Given the description of an element on the screen output the (x, y) to click on. 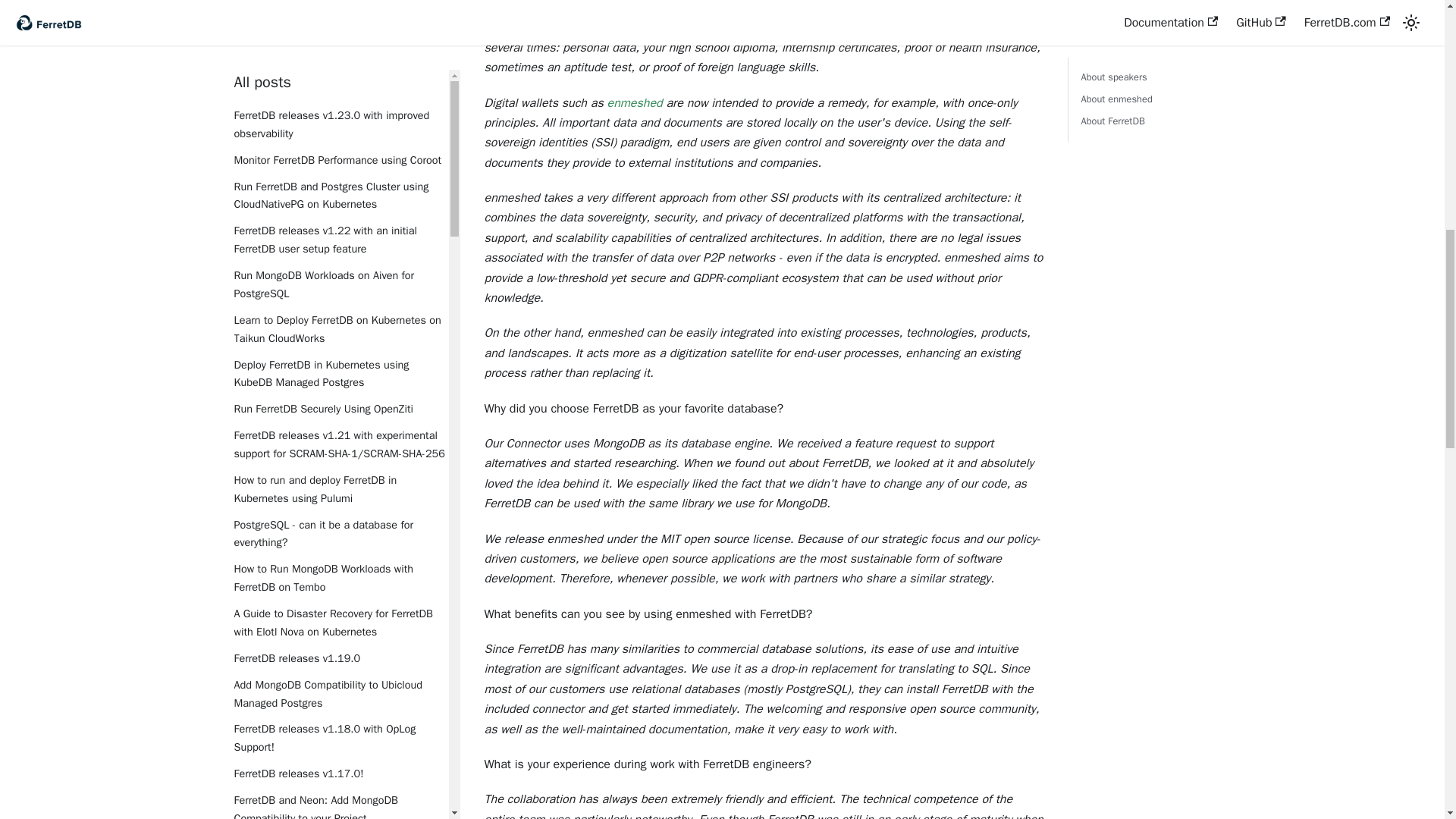
Building the MongoDB-like developer experience on Vultr (340, 293)
How to Install FerretDB on Ubuntu (340, 372)
FerretDB releases v1.15.0! (340, 53)
A Guide on Migrating from MongoDB to FerretDB (340, 88)
Why is FerretDB a database of choice for enmeshed customers? (340, 497)
FerretDB and Neon: Add MongoDB Compatibility to your Project (340, 4)
FerretDB releases v1.16.0! (340, 26)
Why FastNetMon picked FerretDB for their SaaS offering (340, 176)
How to Package and Deploy FerretDB with Acorn (340, 133)
FerretDB releases v1.14.0! (340, 212)
FerretDB releases v1.13.0 with new PostgreSQL backend (340, 337)
How to Build Internal Apps with ILLA Cloud and FerretDB (340, 408)
FerretDB releases v1.11.0 (340, 577)
